Given the description of an element on the screen output the (x, y) to click on. 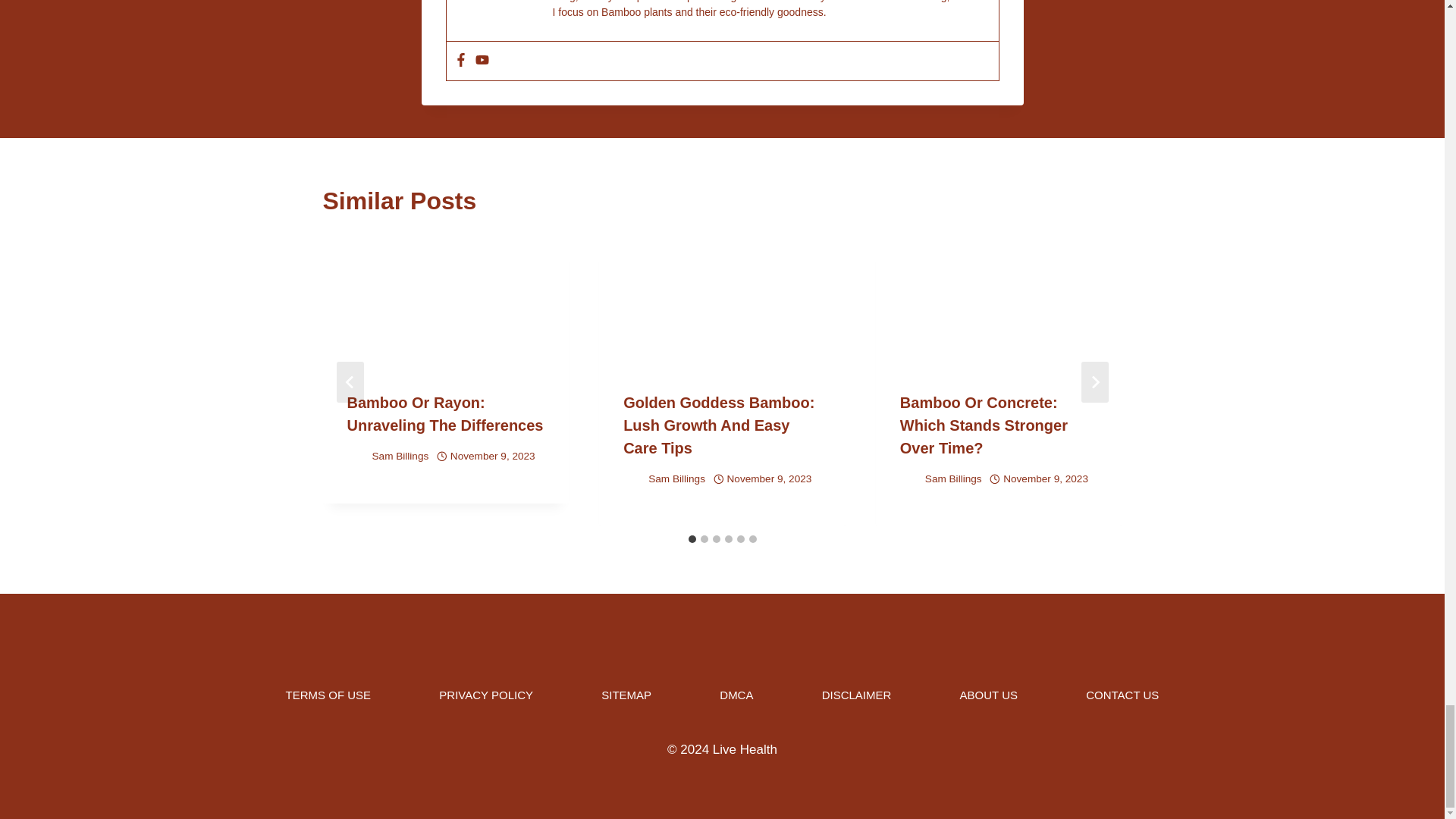
Bamboo Or Rayon: Unraveling The Differences (445, 413)
Golden Goddess Bamboo: Lush Growth And Easy Care Tips (718, 424)
Bamboo Or Concrete: Which Stands Stronger Over Time? (983, 424)
